Given the description of an element on the screen output the (x, y) to click on. 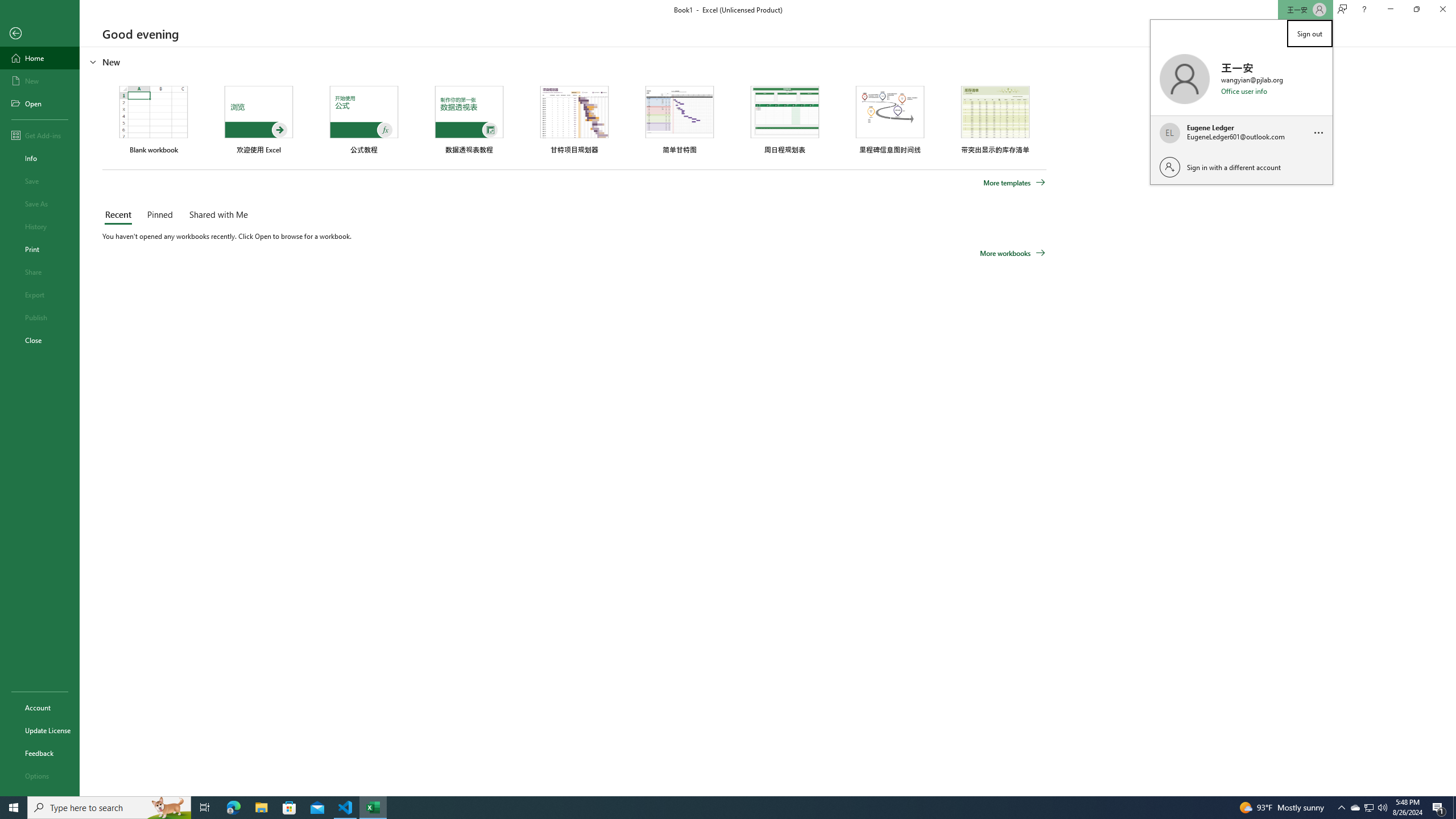
Excel - 1 running window (373, 807)
Update License (40, 730)
Action Center, 1 new notification (1439, 807)
Export (40, 294)
Microsoft Edge (233, 807)
Q2790: 100% (1382, 807)
Publish (40, 317)
Print (40, 248)
Search highlights icon opens search home window (1355, 807)
File Explorer (167, 807)
